Given the description of an element on the screen output the (x, y) to click on. 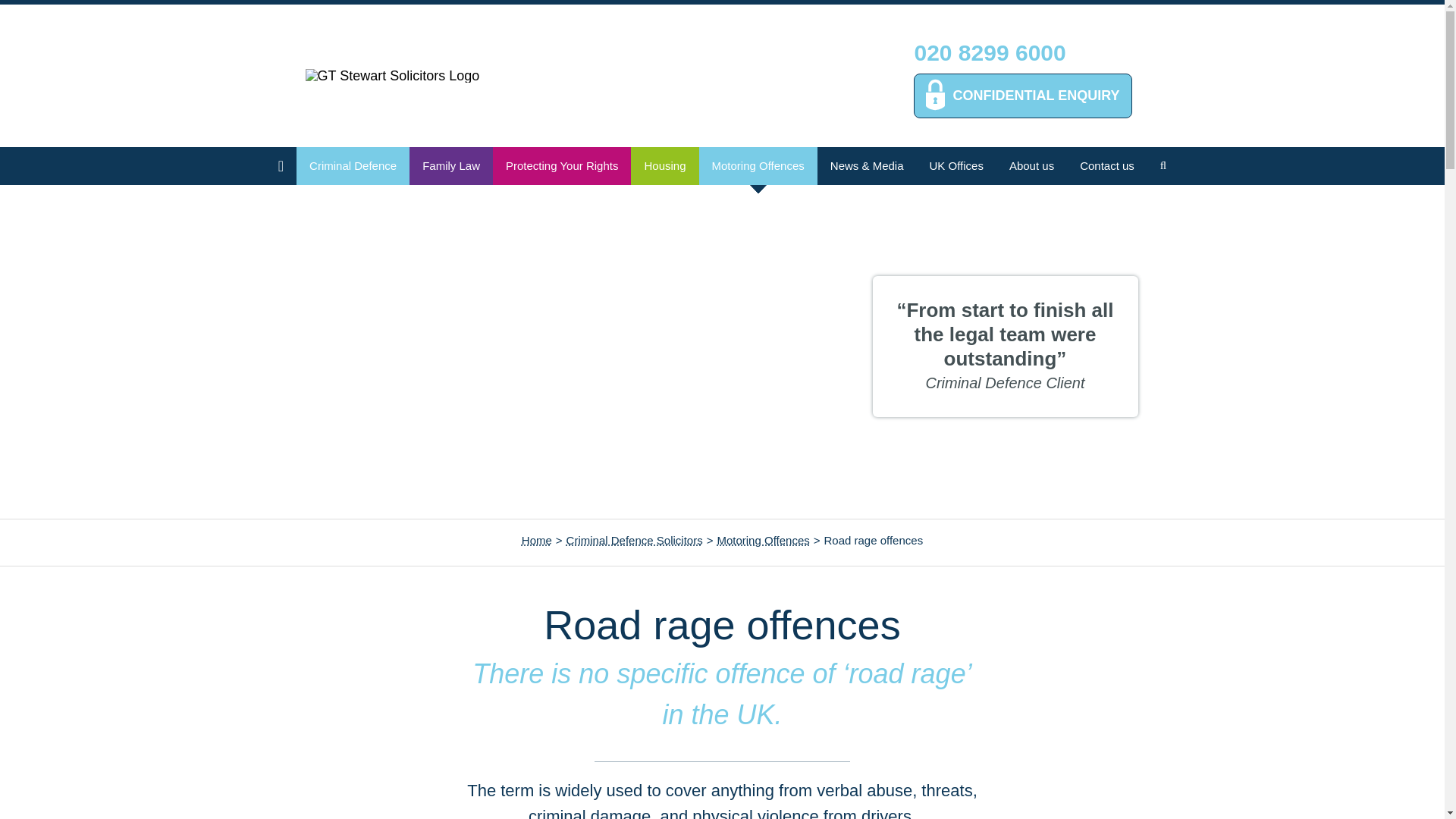
Motoring Offences (757, 166)
Housing (664, 166)
Family Law (451, 166)
Protecting Your Rights (561, 166)
CONFIDENTIAL ENQUIRY (1022, 94)
Criminal Defence (352, 166)
020 8299 6000 (989, 53)
